Given the description of an element on the screen output the (x, y) to click on. 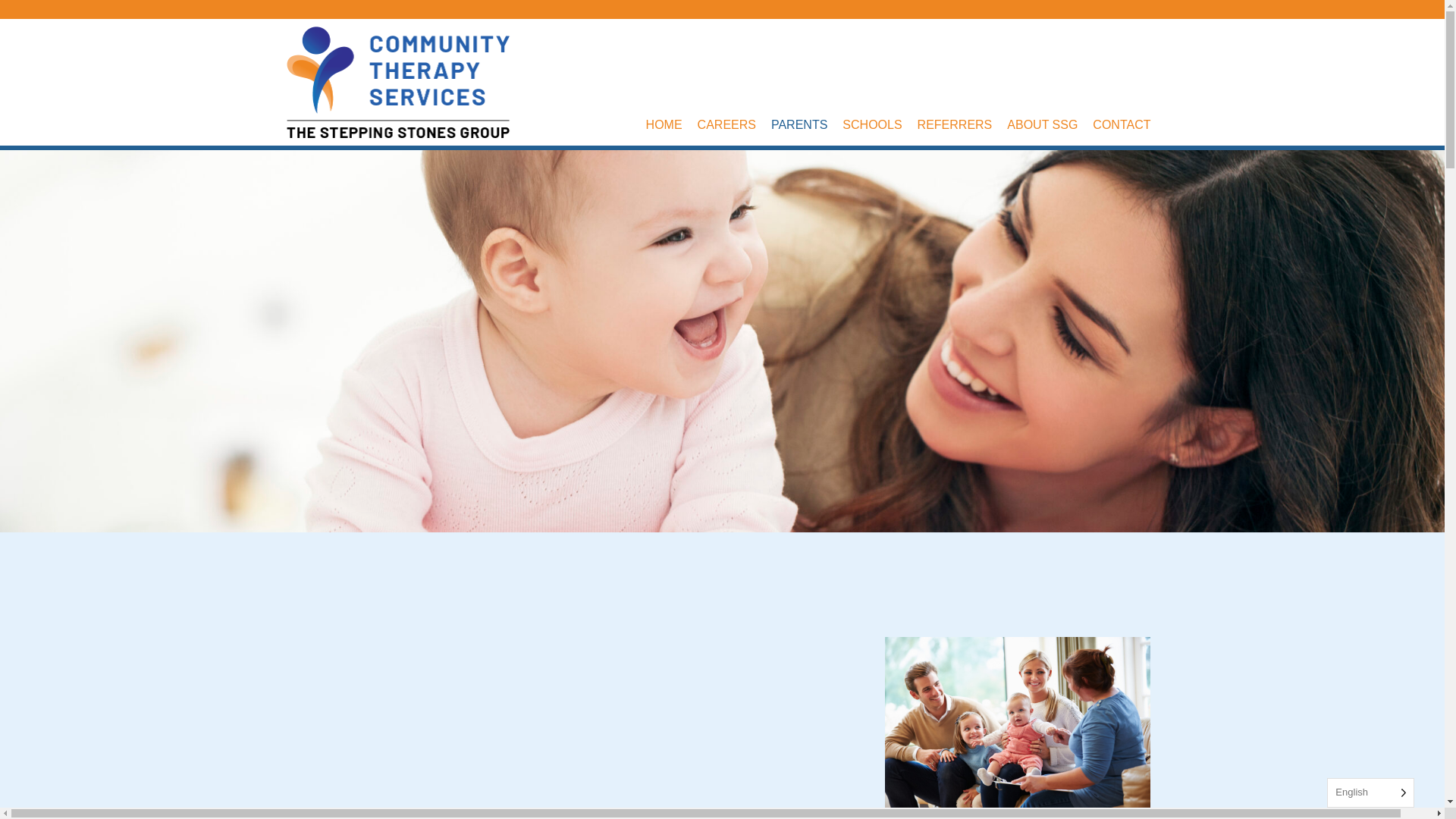
ABOUT SSG (1050, 124)
Schools (880, 124)
HOME (671, 124)
CAREERS (734, 124)
SCHOOLS (880, 124)
Careers (734, 124)
PARENTS (807, 124)
Referrers (962, 124)
About SSG (1050, 124)
Home (671, 124)
CONTACT (1129, 124)
Health Visitor Talking To Family With Young Baby (1017, 725)
REFERRERS (962, 124)
Contact (1129, 124)
